Given the description of an element on the screen output the (x, y) to click on. 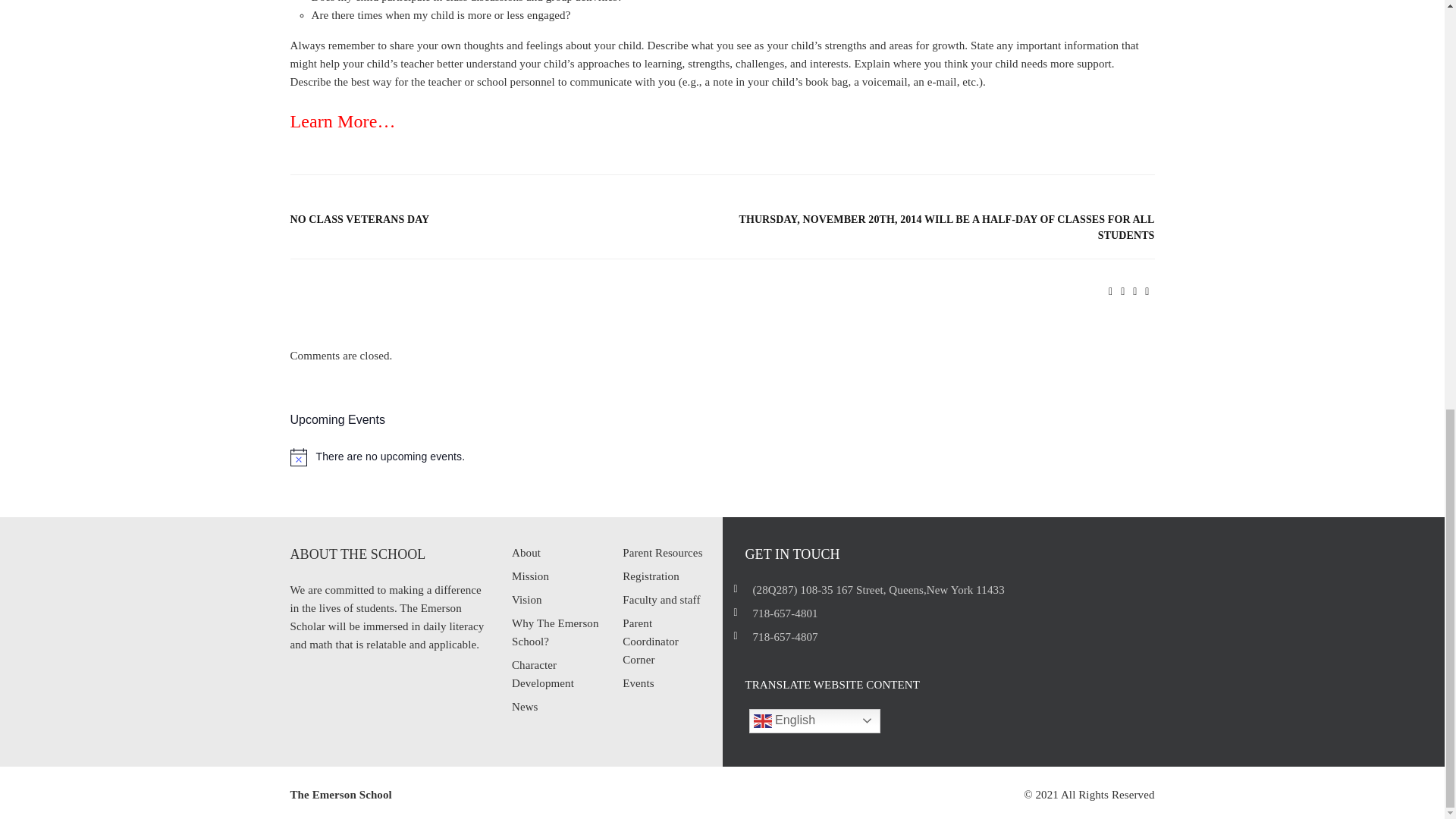
Learn More (333, 120)
NO CLASS VETERANS DAY (497, 219)
